Given the description of an element on the screen output the (x, y) to click on. 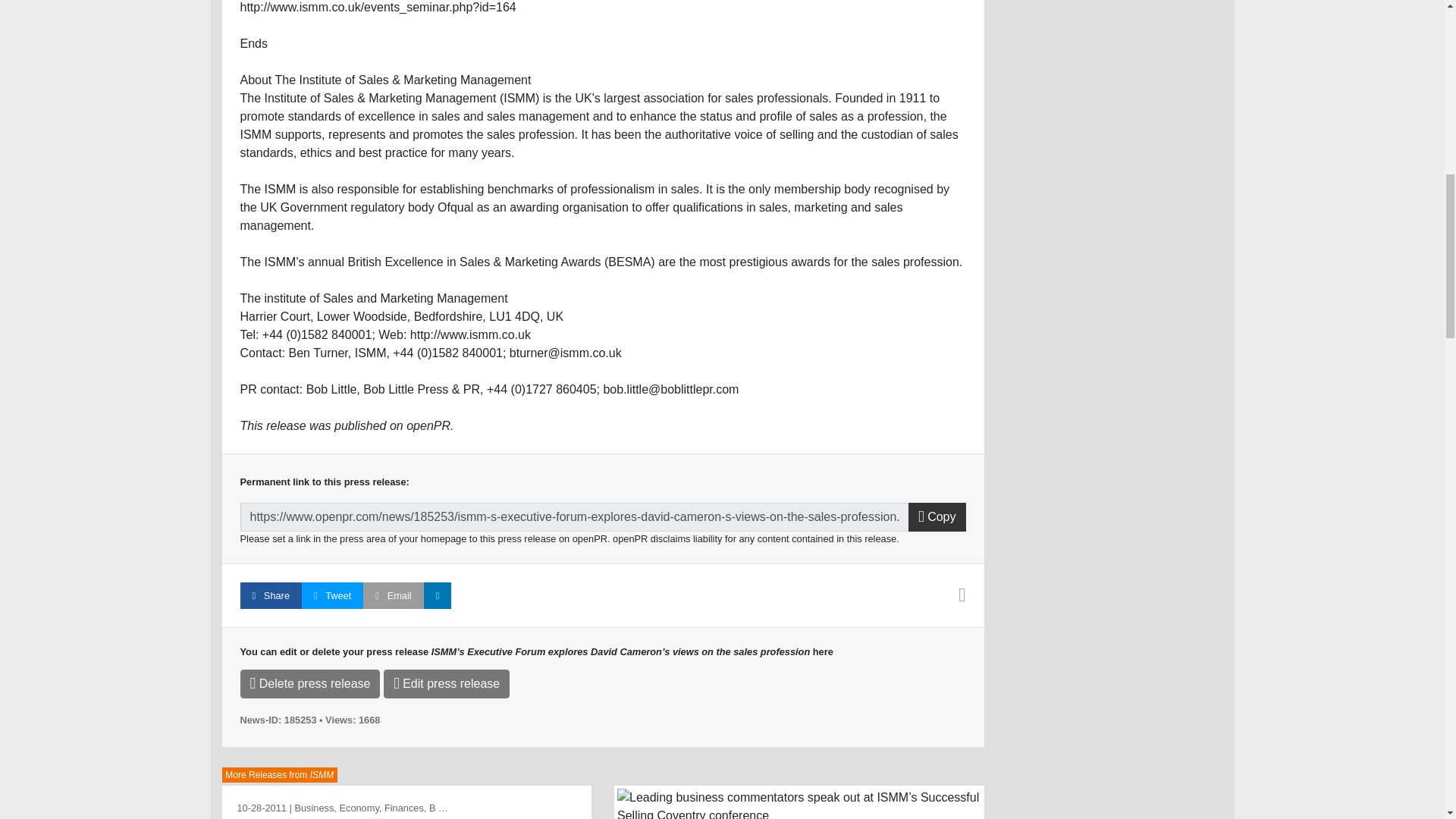
LinkedIn (437, 595)
Email (392, 595)
Facebook (270, 595)
Permalink (574, 516)
